Given the description of an element on the screen output the (x, y) to click on. 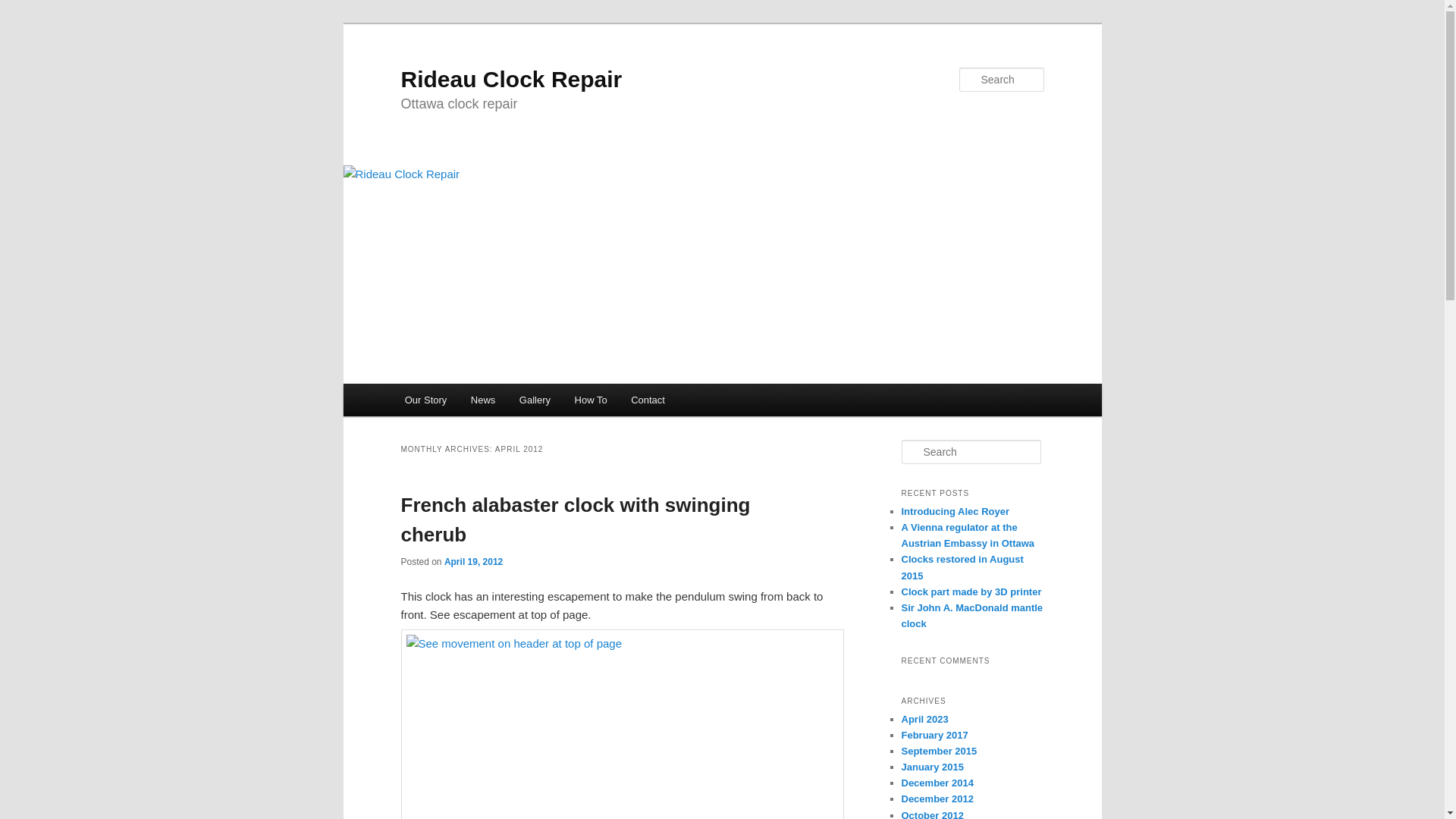
French alabaster mantel clock (621, 724)
3:33 pm (473, 561)
Rideau Clock Repair (510, 78)
Contact (647, 400)
Gallery (534, 400)
Our Story (425, 400)
How To (591, 400)
Search (24, 8)
French alabaster clock with swinging cherub (574, 519)
April 19, 2012 (473, 561)
News (482, 400)
